Given the description of an element on the screen output the (x, y) to click on. 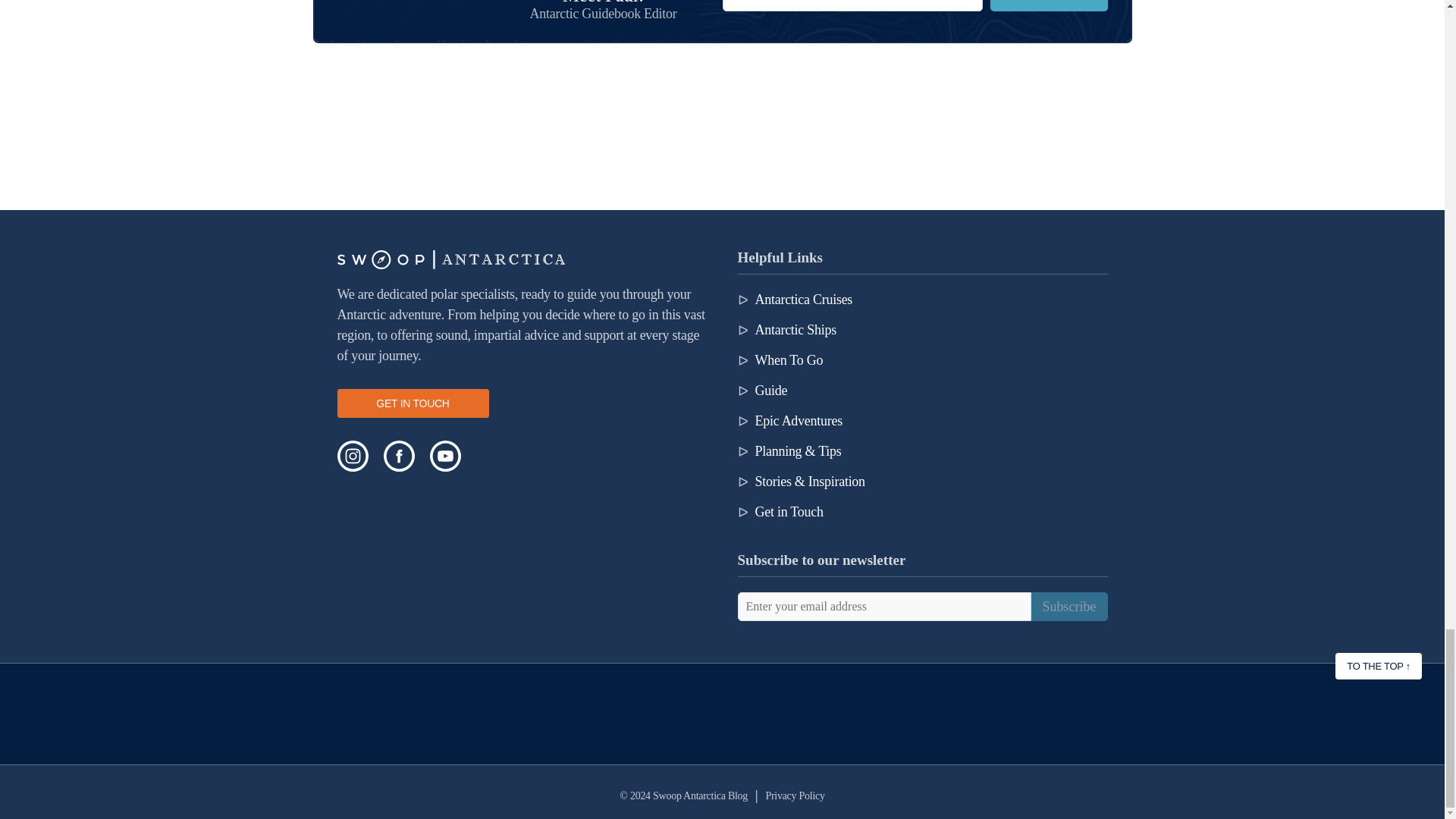
Facebook (399, 455)
Instagram (352, 455)
YouTube (444, 455)
Subscribe (1048, 6)
